Given the description of an element on the screen output the (x, y) to click on. 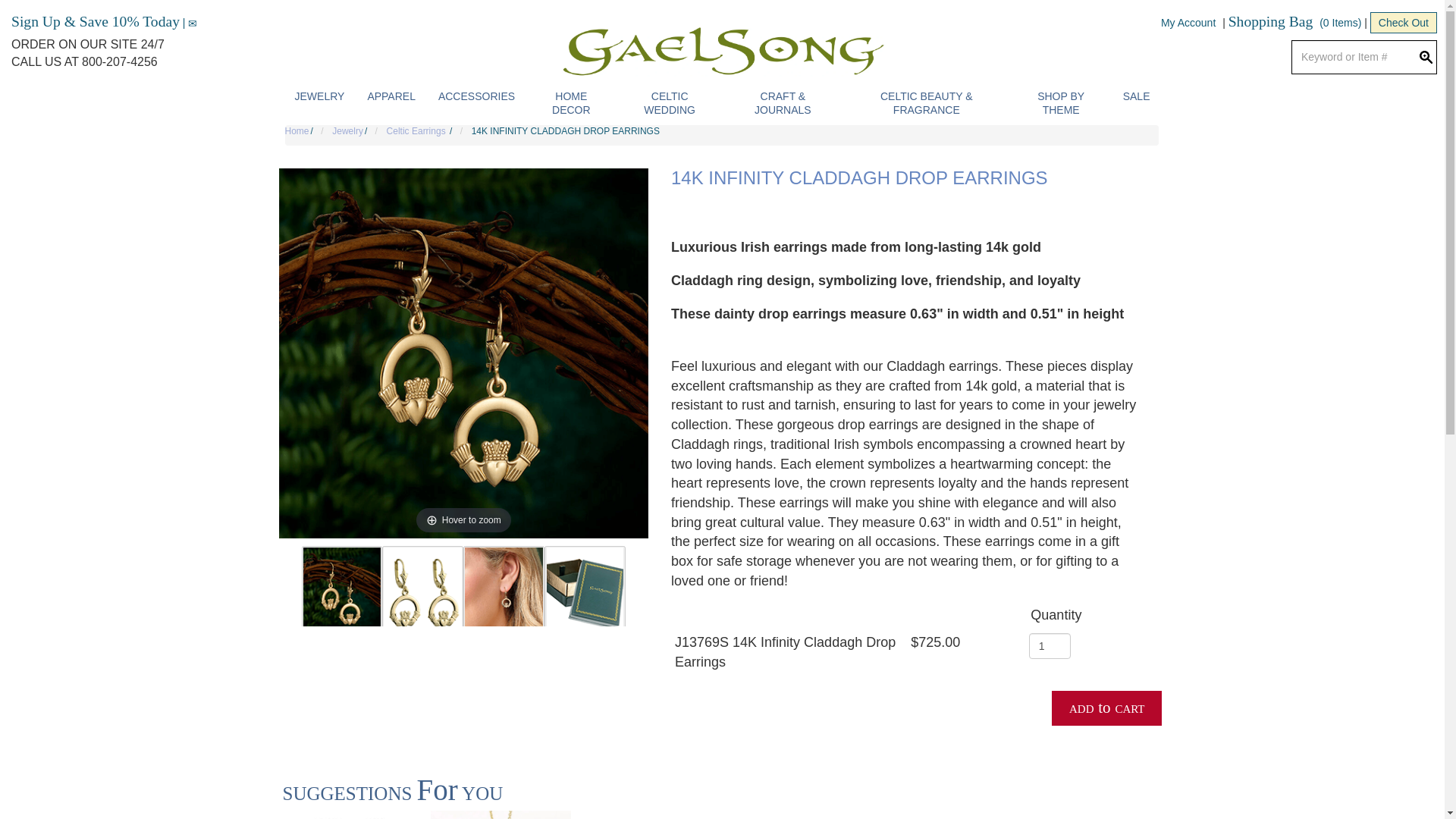
1 (1049, 646)
